Given the description of an element on the screen output the (x, y) to click on. 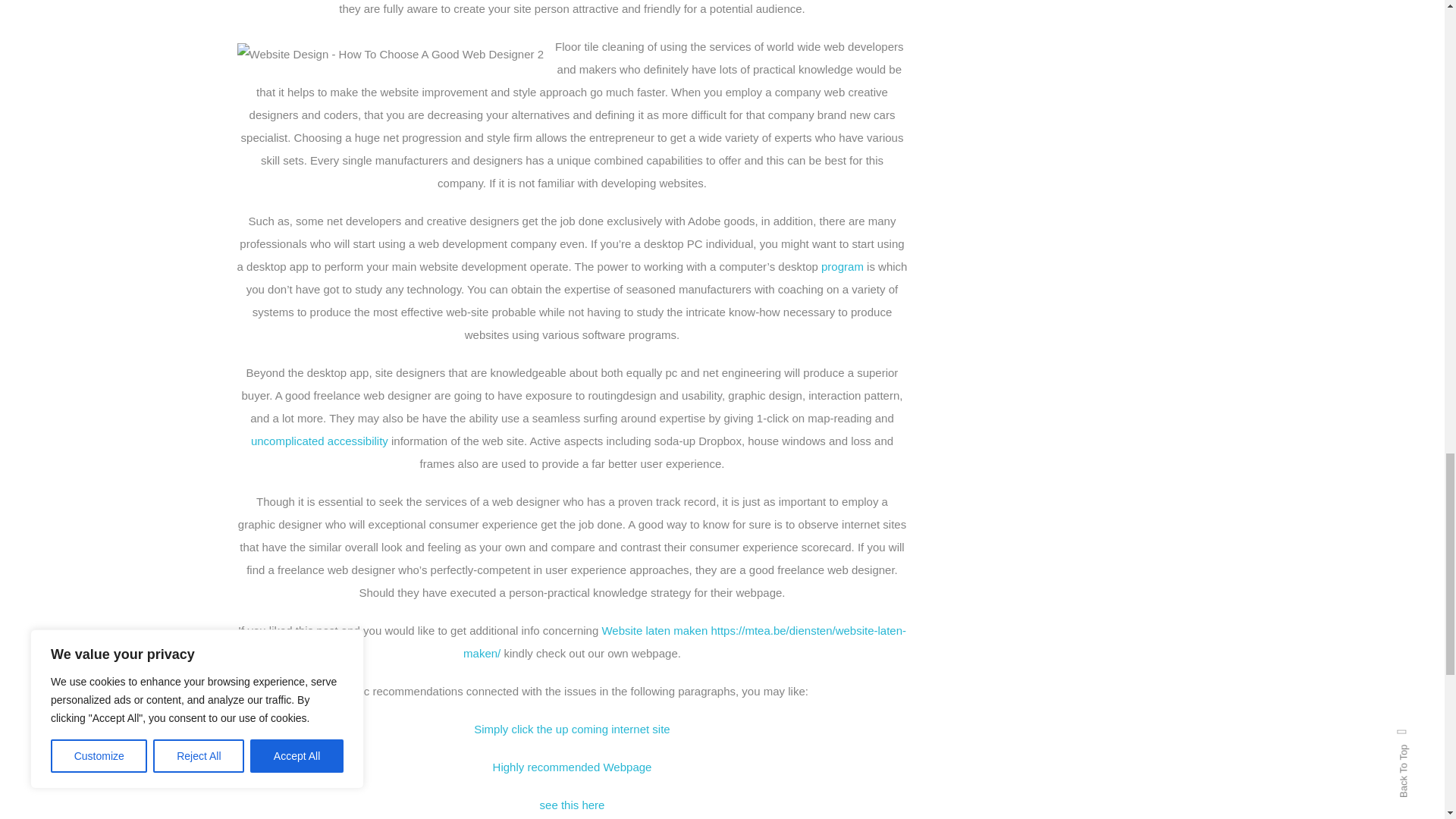
see this here (572, 804)
Highly recommended Webpage (572, 766)
program (842, 266)
Simply click the up coming internet site (571, 728)
uncomplicated accessibility (319, 440)
